Given the description of an element on the screen output the (x, y) to click on. 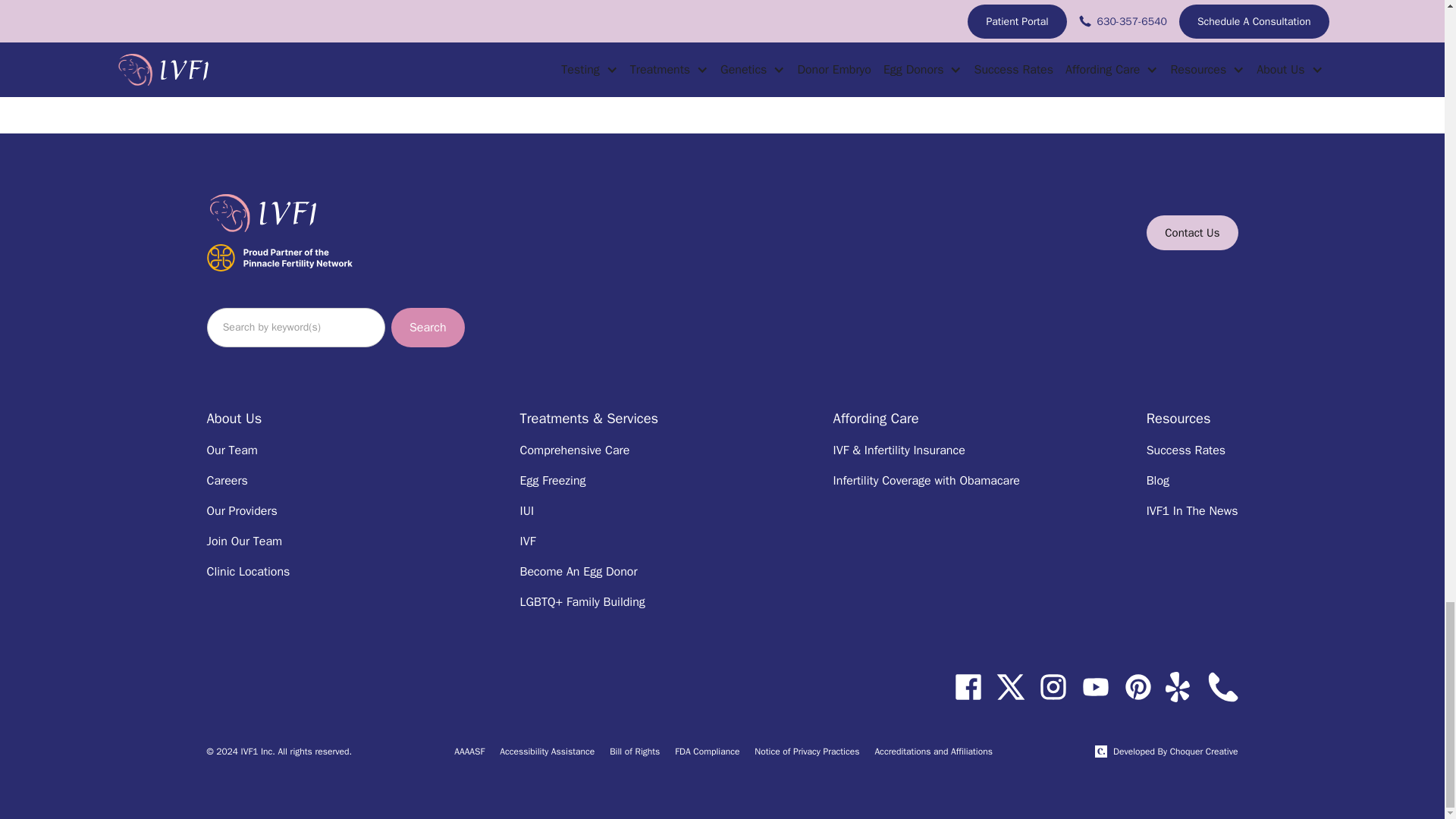
Search (427, 327)
Search (427, 327)
